Given the description of an element on the screen output the (x, y) to click on. 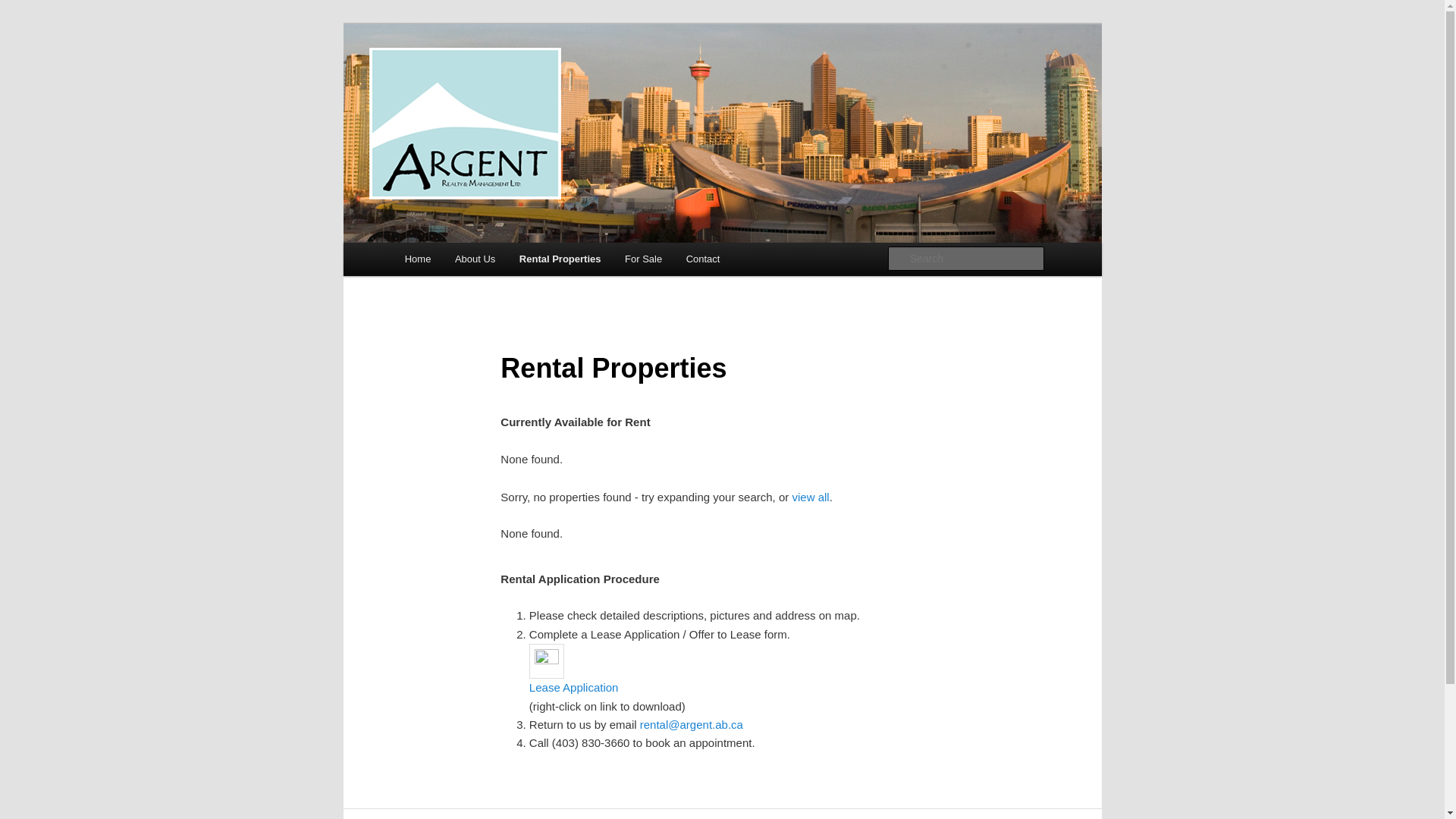
rental@argent.ab.ca Element type: text (691, 724)
Search Element type: text (24, 8)
Skip to primary content Element type: text (472, 261)
Home Element type: text (417, 258)
Lease Application Element type: text (659, 686)
Rental Properties Element type: text (559, 258)
Contact Element type: text (702, 258)
Skip to secondary content Element type: text (479, 261)
Argent Realty & Management Ltd. Element type: text (582, 78)
pdf_icon Element type: hover (546, 660)
For Sale Element type: text (643, 258)
view all Element type: text (809, 495)
About Us Element type: text (474, 258)
